Given the description of an element on the screen output the (x, y) to click on. 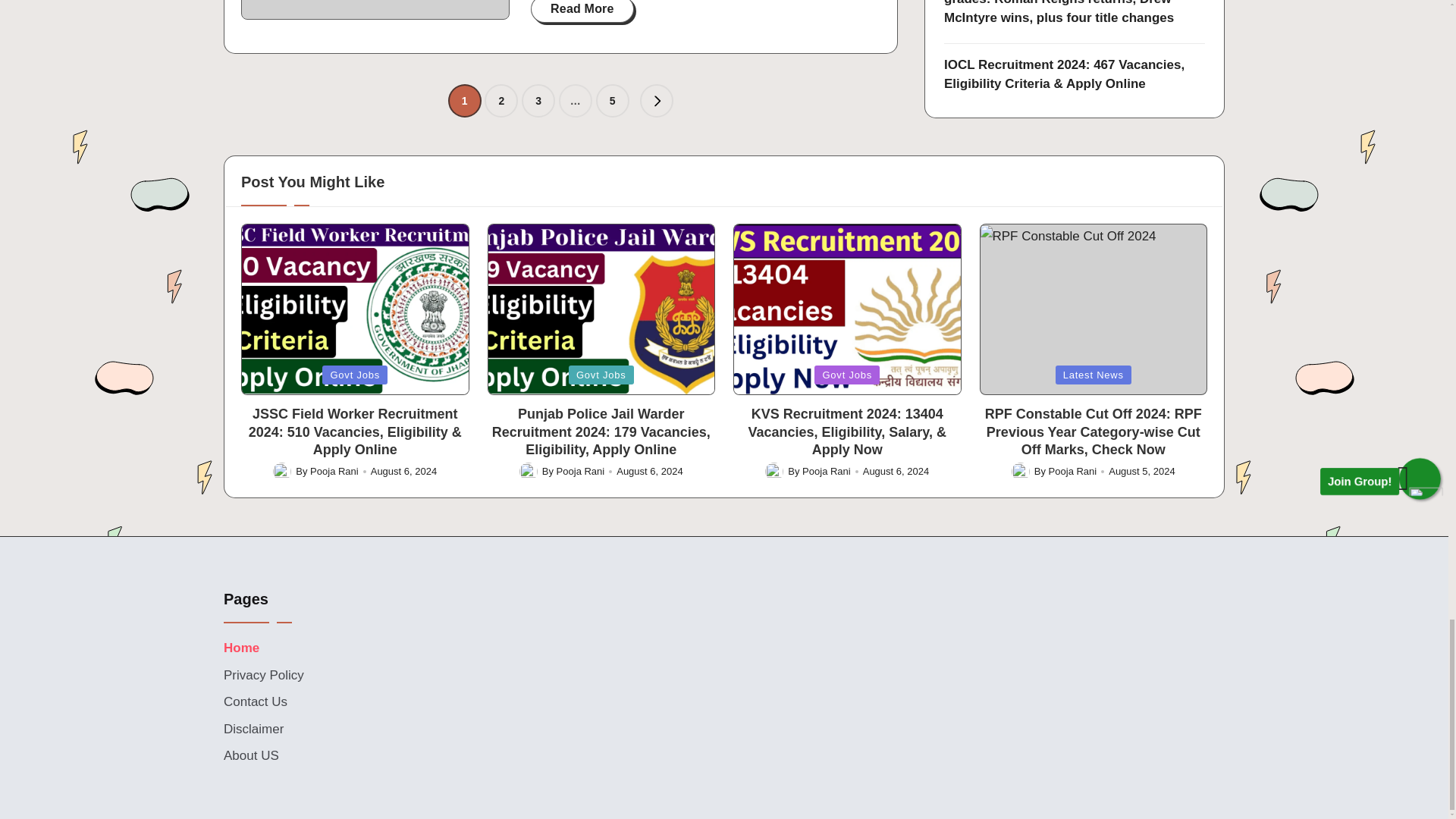
View all posts by Pooja Rani (826, 471)
View all posts by Pooja Rani (334, 471)
View all posts by Pooja Rani (580, 471)
View all posts by Pooja Rani (1072, 471)
